Given the description of an element on the screen output the (x, y) to click on. 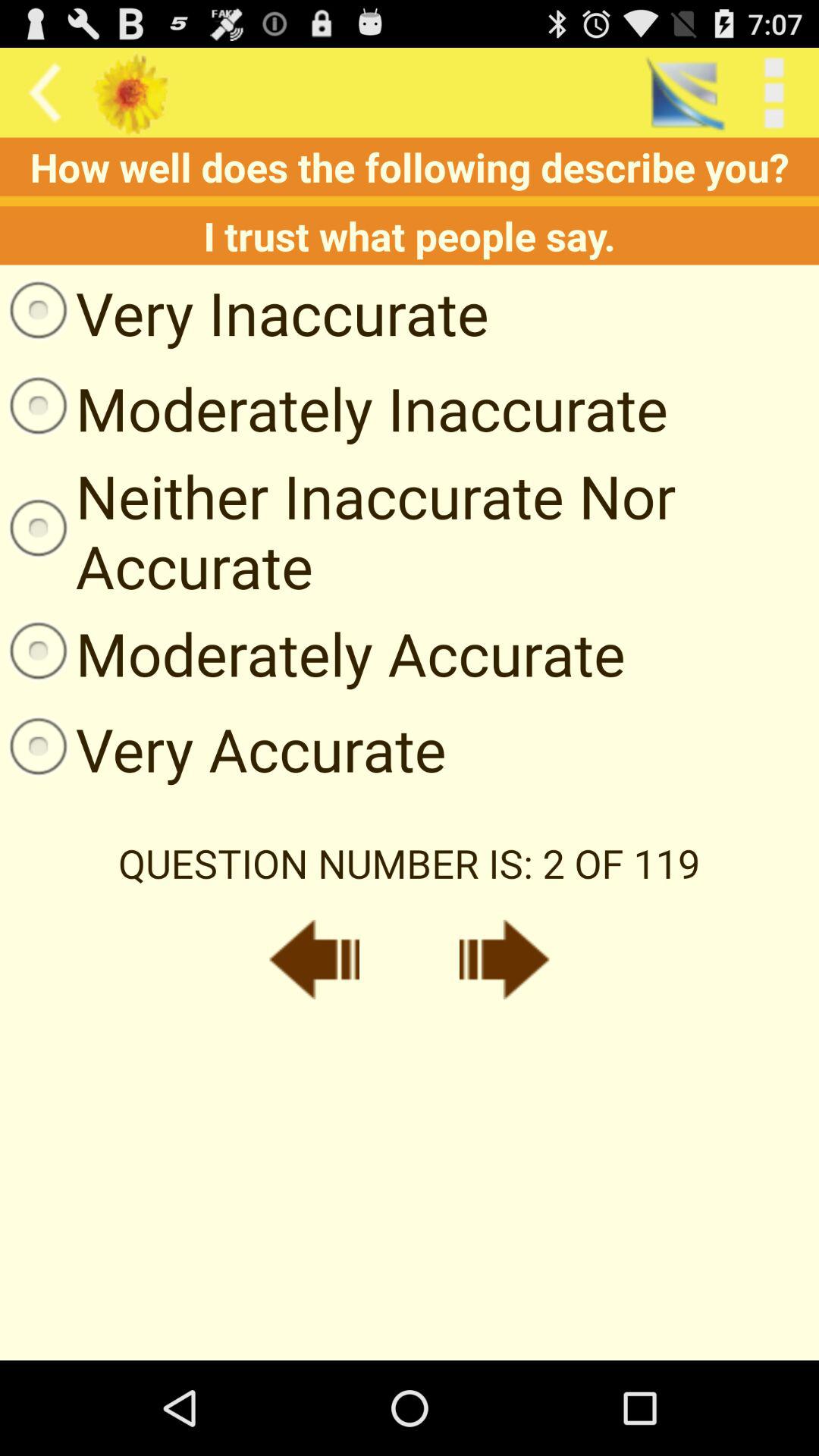
scroll to the neither inaccurate nor item (409, 530)
